Given the description of an element on the screen output the (x, y) to click on. 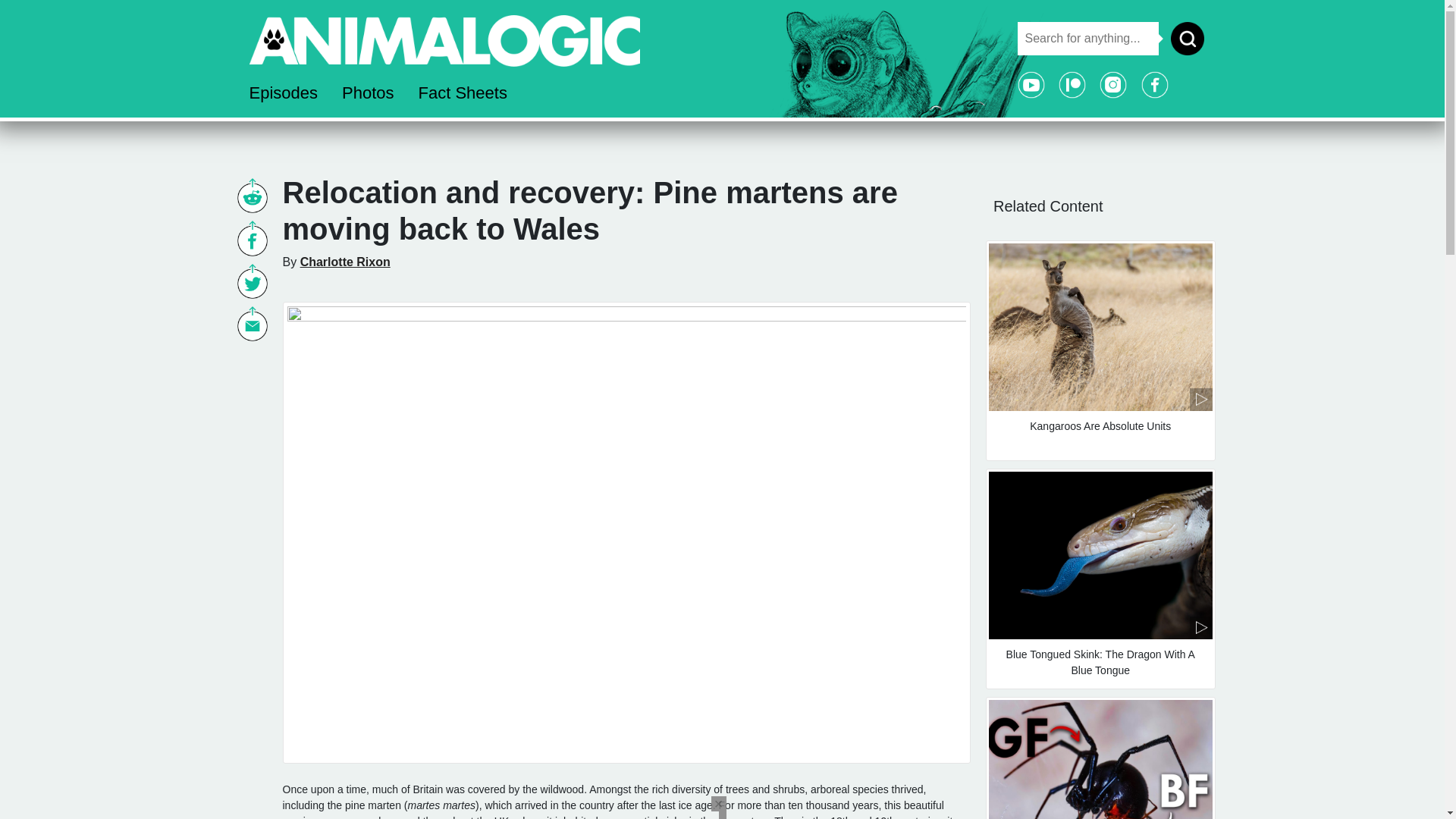
Episodes (282, 92)
Black Widow: The Ultimate Goth Girlfriend (1100, 757)
Kangaroos Are Absolute Units (1100, 350)
Charlotte Rixon (344, 261)
Blue Tongued Skink: The Dragon With A Blue Tongue (1100, 578)
Photos (368, 92)
Fact Sheets (462, 92)
